Given the description of an element on the screen output the (x, y) to click on. 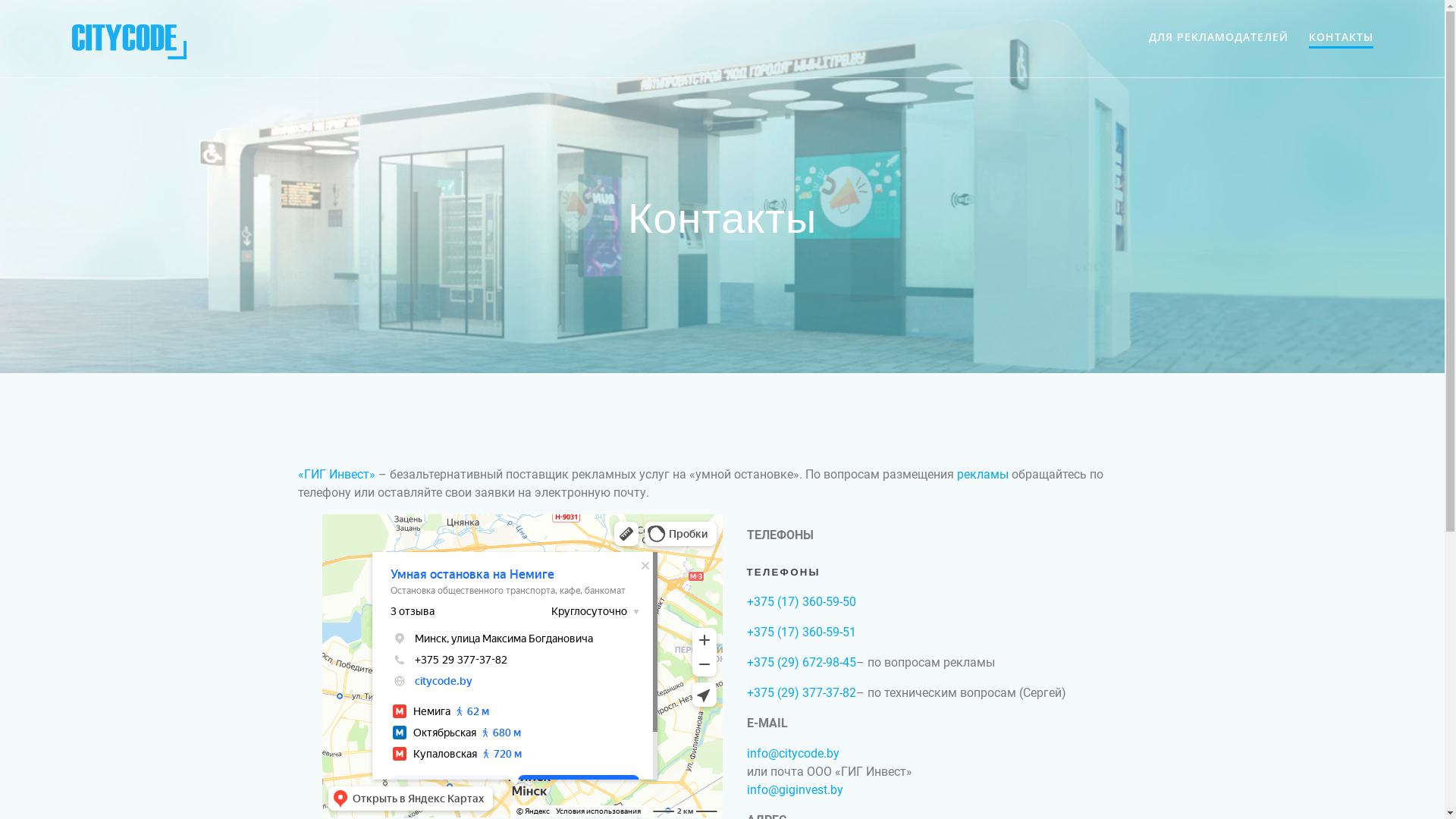
info@citycode.by Element type: text (792, 753)
+375 (17) 360-59-50 Element type: text (800, 601)
info@giginvest.by Element type: text (794, 789)
+375 (29) 377-37-82 Element type: text (800, 692)
+375 (17) 360-59-51 Element type: text (800, 631)
+375 (29) 672-98-45 Element type: text (800, 662)
